Given the description of an element on the screen output the (x, y) to click on. 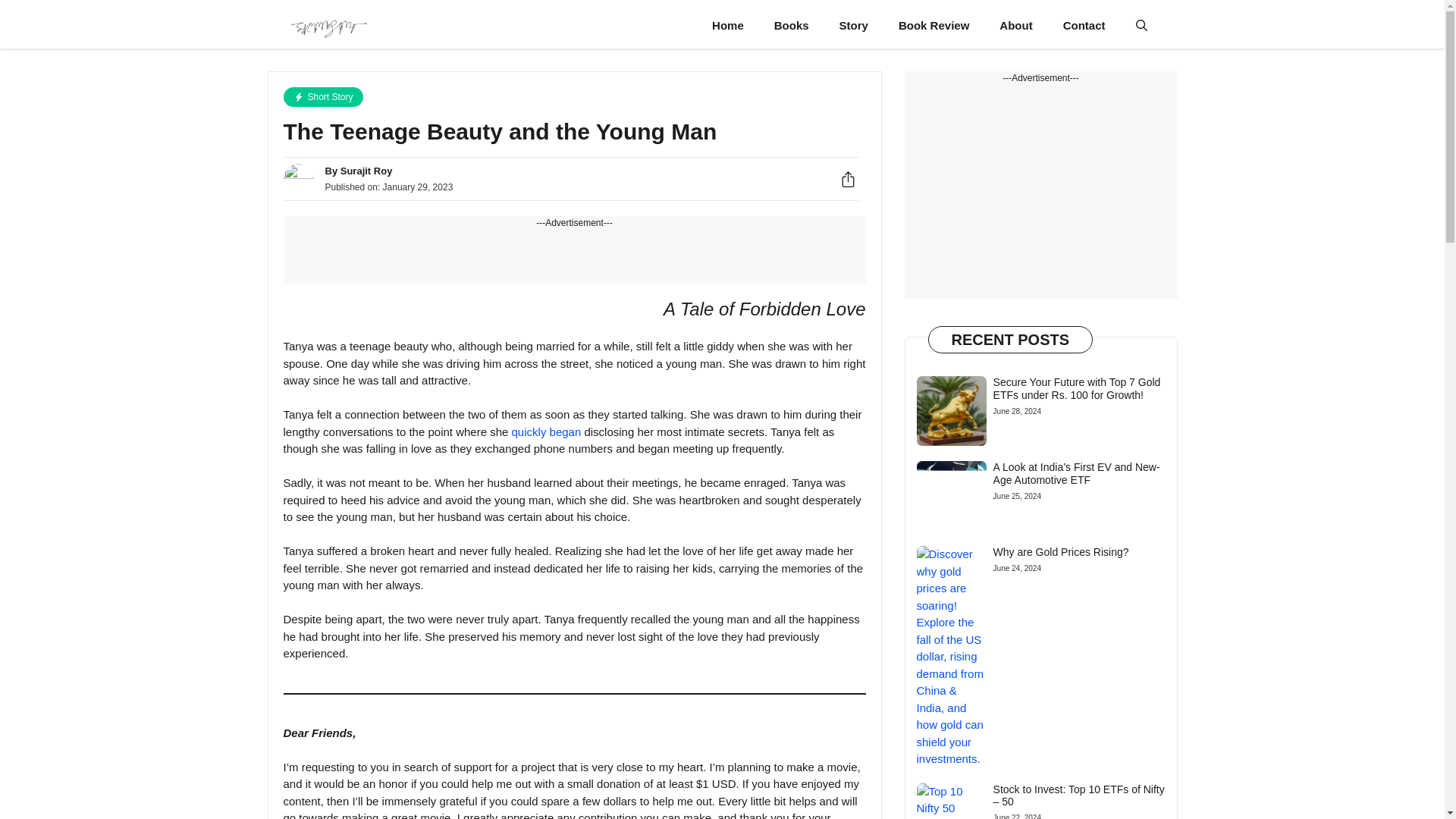
Short Story (322, 96)
Books (791, 25)
Contact (1084, 25)
Surajit Roy (327, 25)
Home (727, 25)
Why are Gold Prices Rising? (1060, 551)
Book Review (933, 25)
Surajit Roy (366, 170)
quickly began (546, 431)
About (1015, 25)
Story (853, 25)
